Given the description of an element on the screen output the (x, y) to click on. 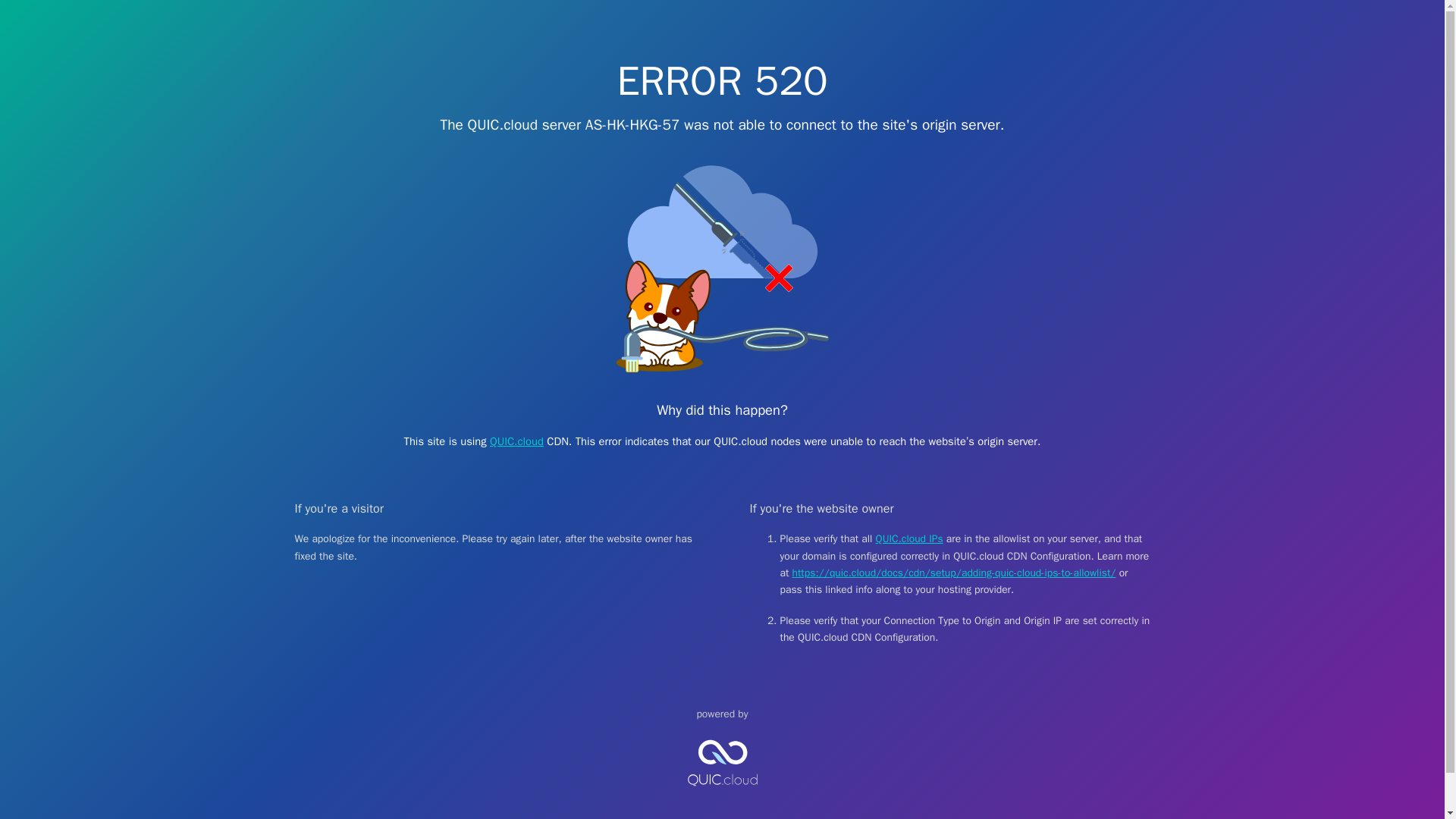
QUIC.cloud (516, 440)
QUIC.cloud (721, 798)
QUIC.cloud IPs (909, 538)
